Given the description of an element on the screen output the (x, y) to click on. 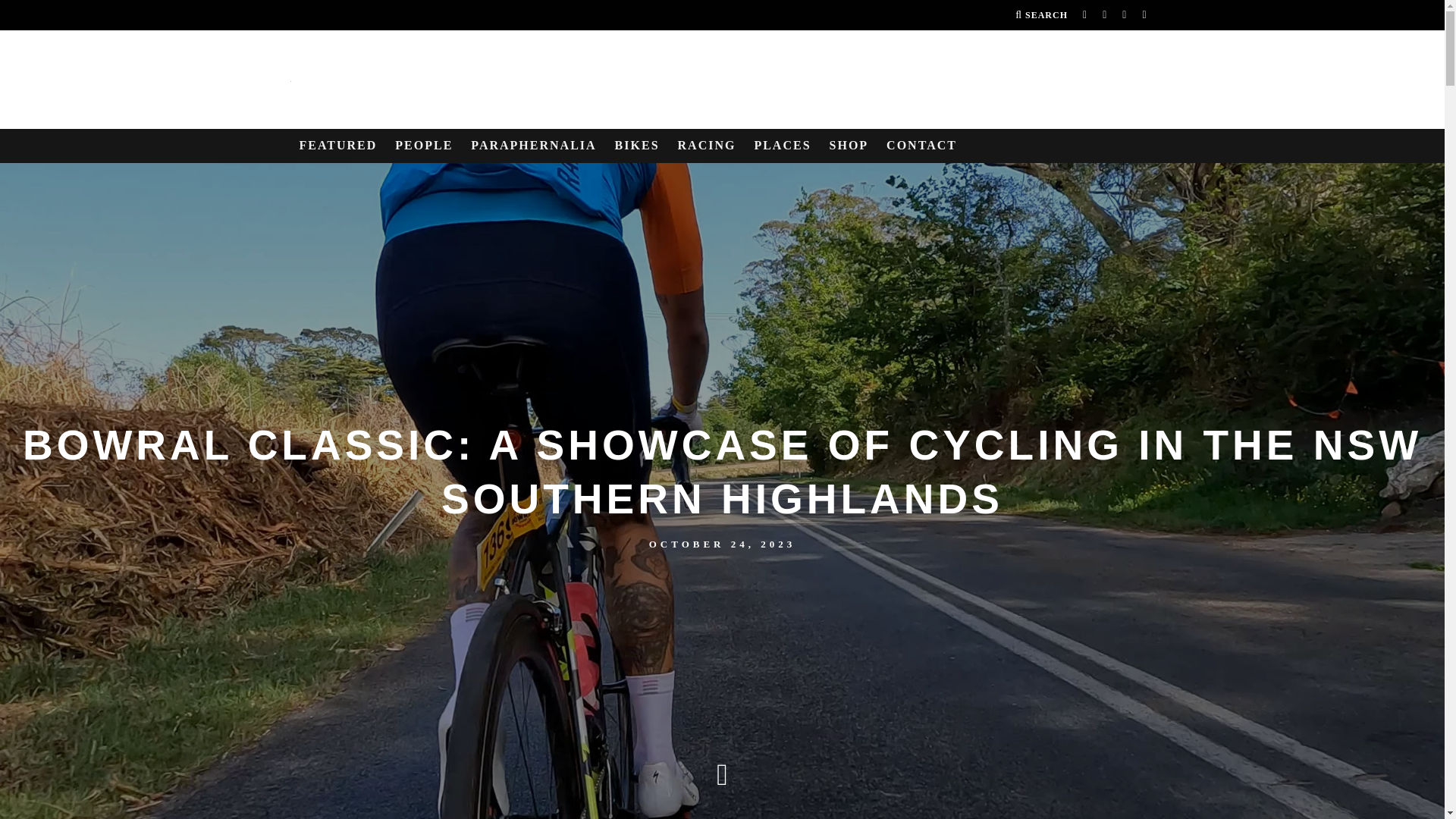
SEARCH (1040, 15)
PEOPLE (423, 145)
Search (1040, 15)
FEATURED (337, 145)
PARAPHERNALIA (533, 145)
2024 Official Tour de France Guide (849, 145)
